Given the description of an element on the screen output the (x, y) to click on. 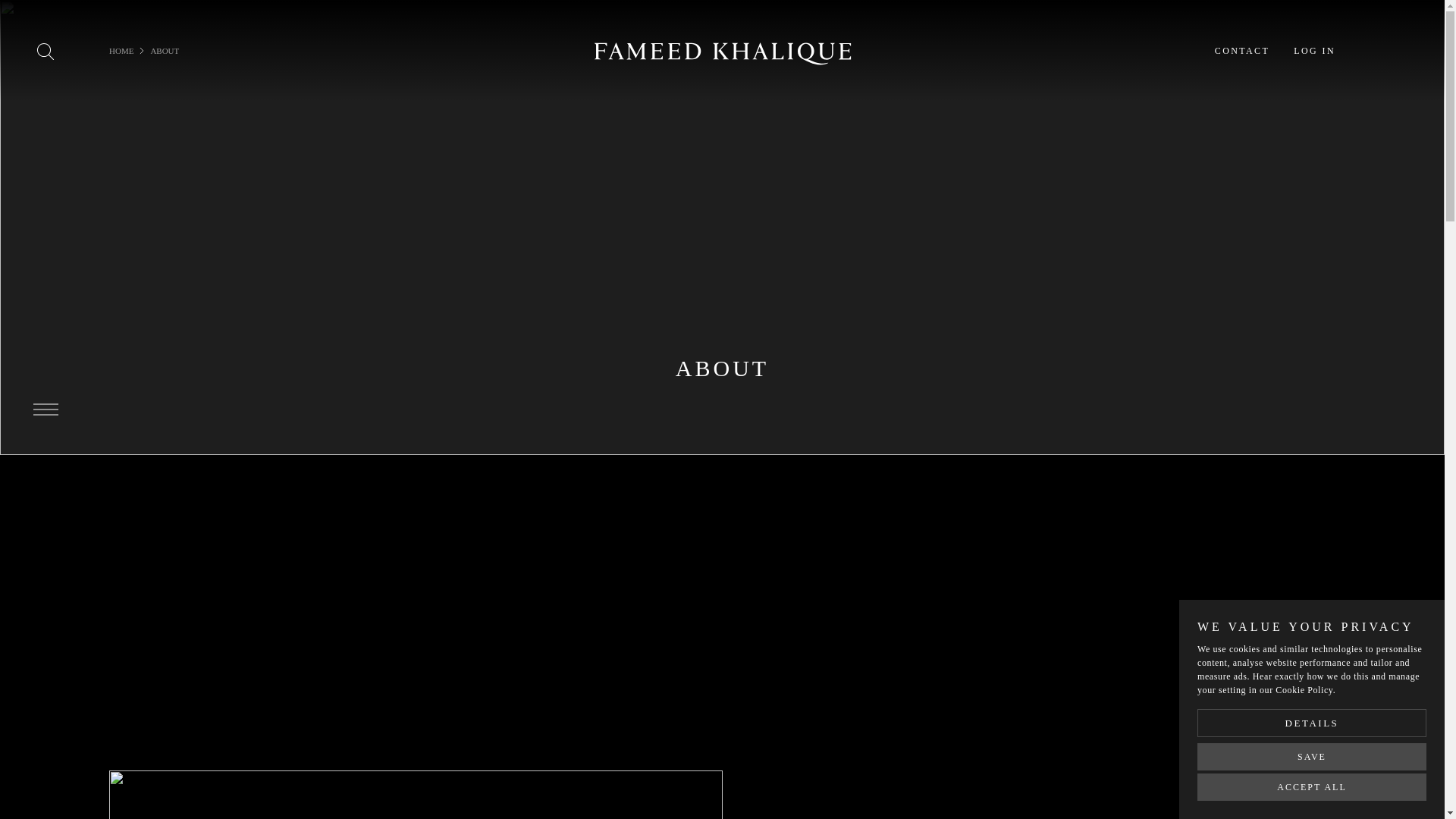
SAVE (1311, 756)
CONTACT (1241, 50)
DETAILS (1311, 722)
ACCEPT ALL (1311, 786)
LOG IN (1314, 50)
HOME (121, 50)
